Given the description of an element on the screen output the (x, y) to click on. 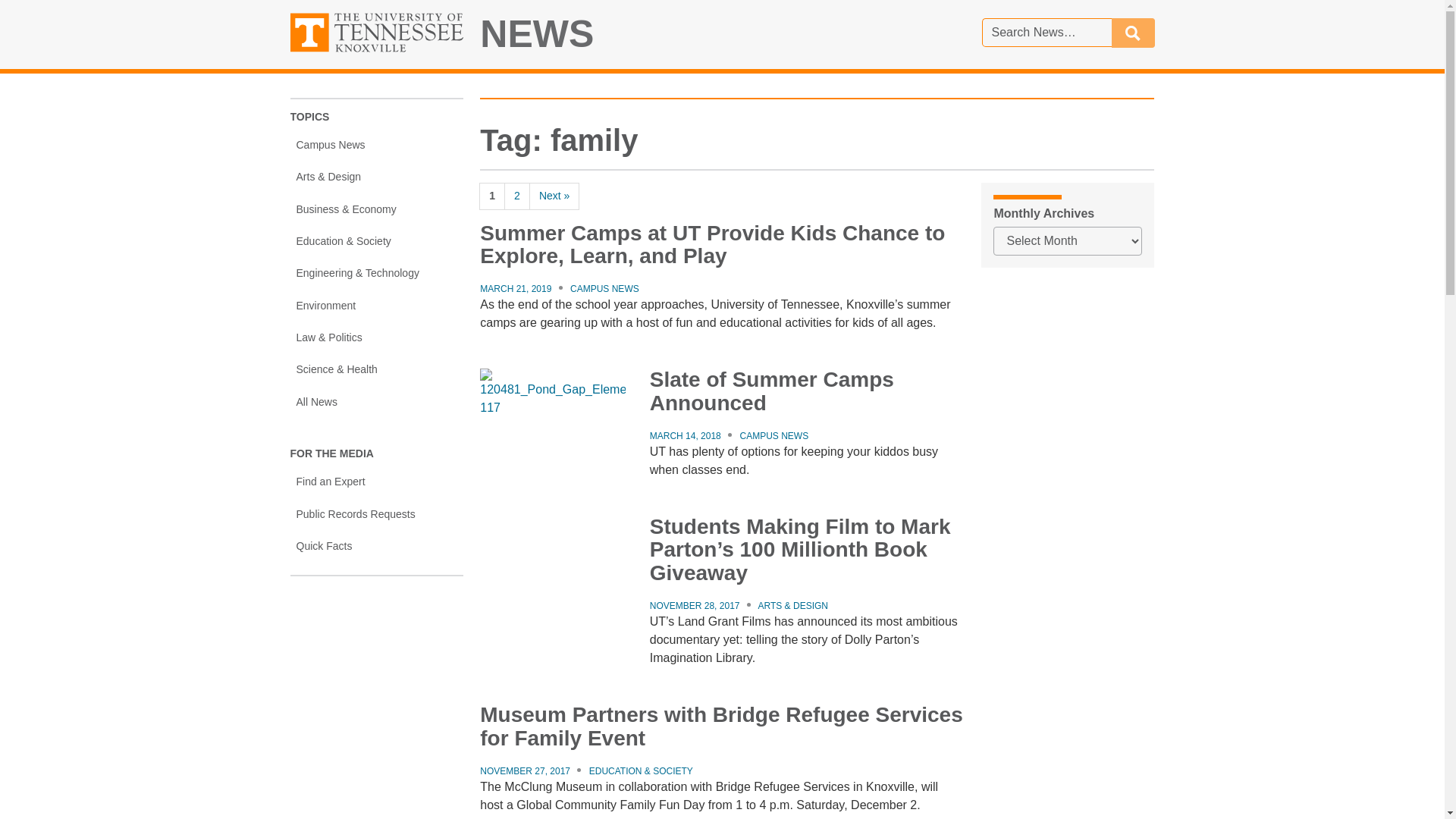
Public Records Requests (376, 513)
Slate of Summer Camps Announced (771, 390)
2 (516, 195)
Quick Facts (376, 545)
All News (376, 401)
Find an Expert (376, 481)
imag library 1 (552, 563)
CAMPUS NEWS (604, 288)
View all posts in Campus News (604, 288)
